Given the description of an element on the screen output the (x, y) to click on. 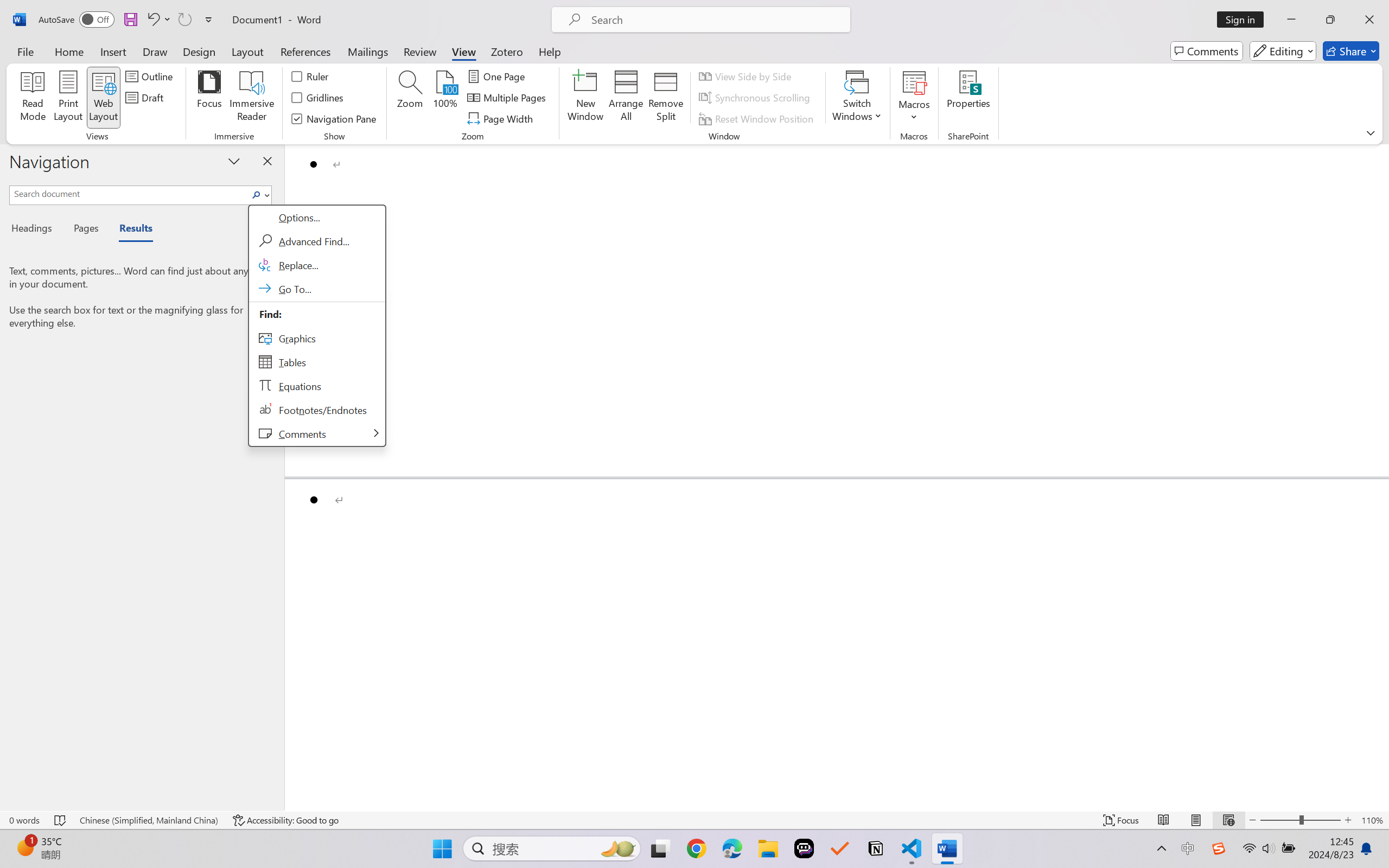
Draft (146, 97)
Can't Repeat (184, 19)
Reset Window Position (757, 118)
View Macros (914, 81)
